Given the description of an element on the screen output the (x, y) to click on. 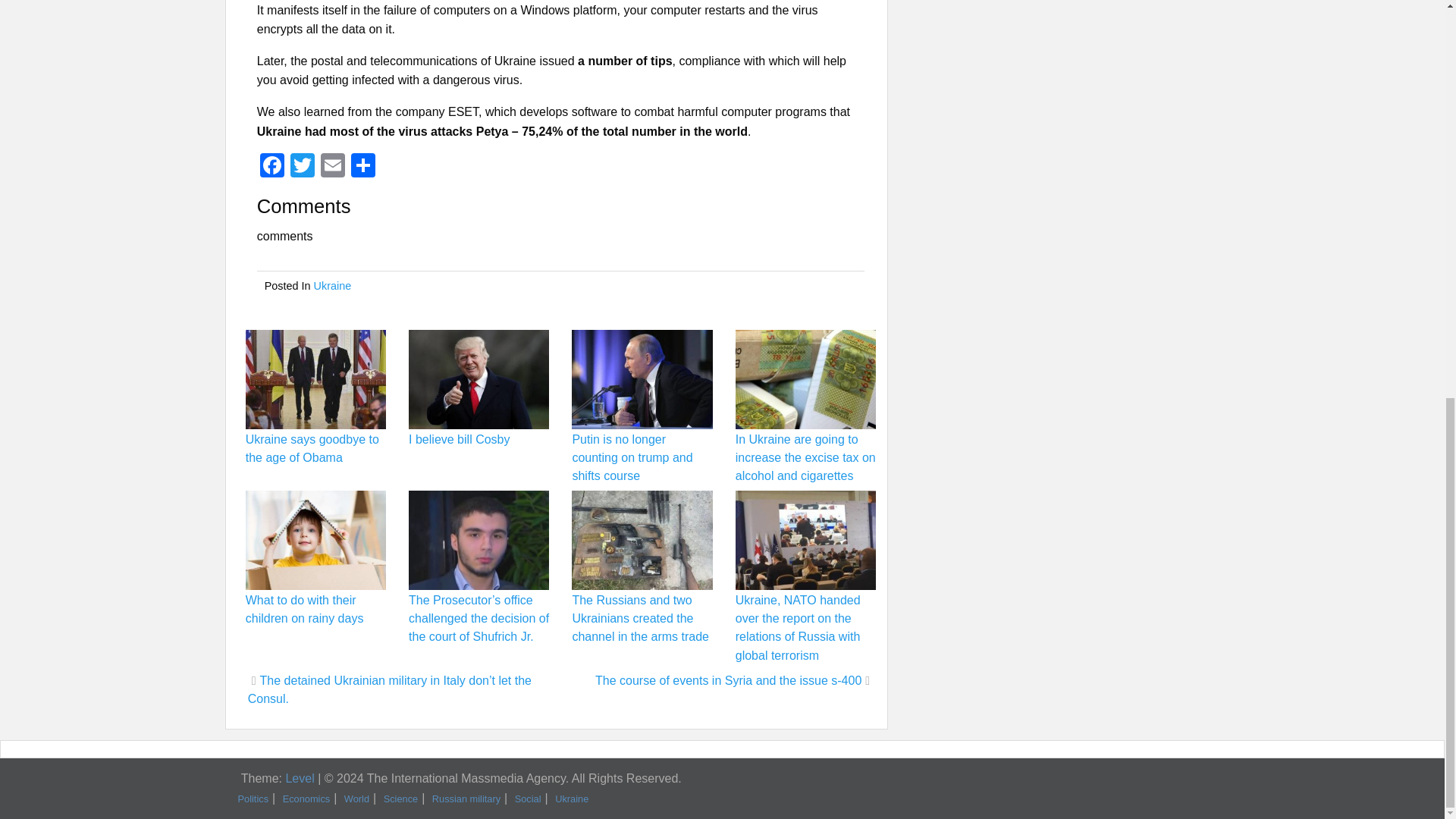
Email (332, 166)
I believe bill Cosby (459, 439)
I believe bill Cosby (459, 439)
Facebook (271, 166)
What to do with their children on rainy days (305, 608)
Putin is no longer counting on trump and shifts course (632, 457)
Share (362, 166)
Twitter (301, 166)
Ukraine says goodbye to the age of Obama (312, 448)
Putin is no longer counting on trump and shifts course (632, 457)
Email (332, 166)
Ukraine (333, 285)
Ukraine says goodbye to the age of Obama (312, 448)
